Given the description of an element on the screen output the (x, y) to click on. 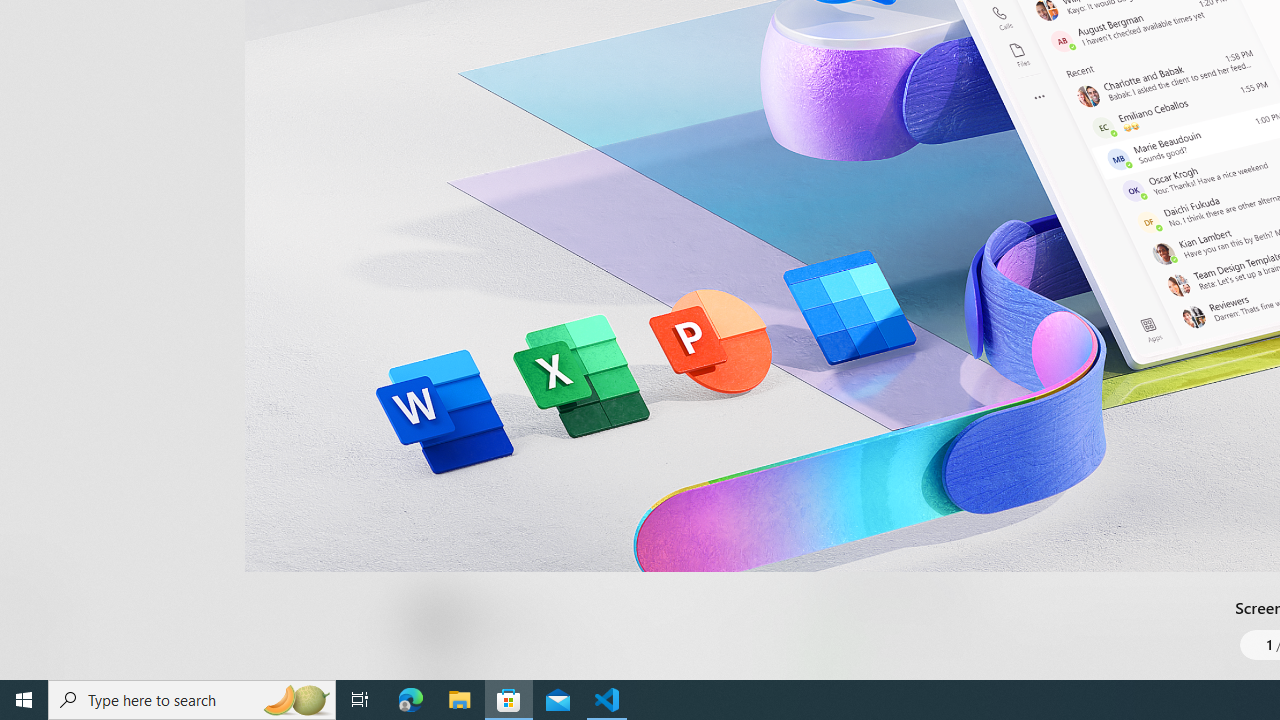
Productivity (579, 30)
Age rating: EVERYONE. Click for more information. (506, 619)
Show more (854, 674)
Share (746, 632)
Show all ratings and reviews (838, 207)
Show less (850, 518)
